Given the description of an element on the screen output the (x, y) to click on. 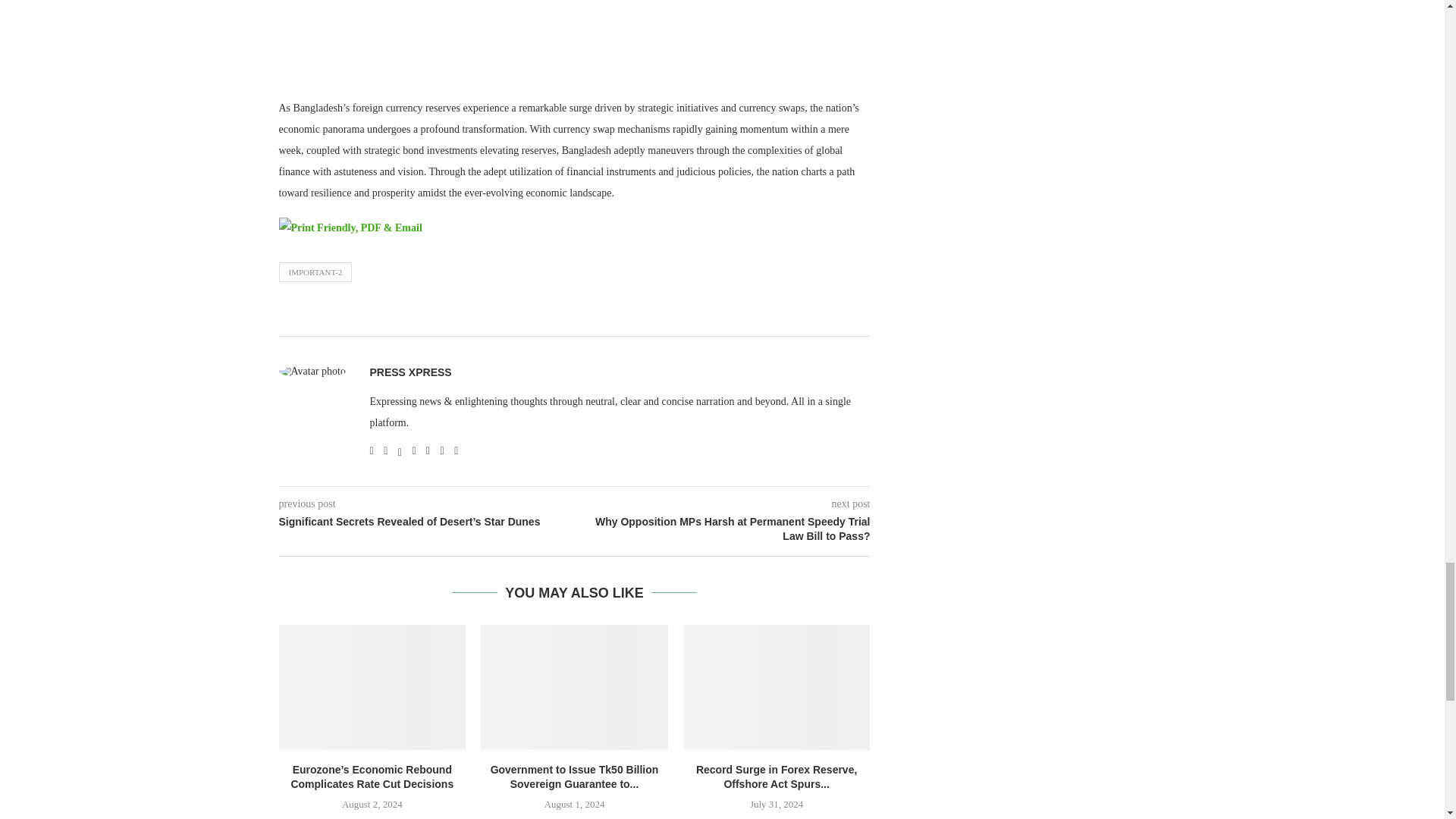
Author Press Xpress (410, 372)
Record Surge in Forex Reserve, Offshore Act Spurs Growth (776, 686)
